Given the description of an element on the screen output the (x, y) to click on. 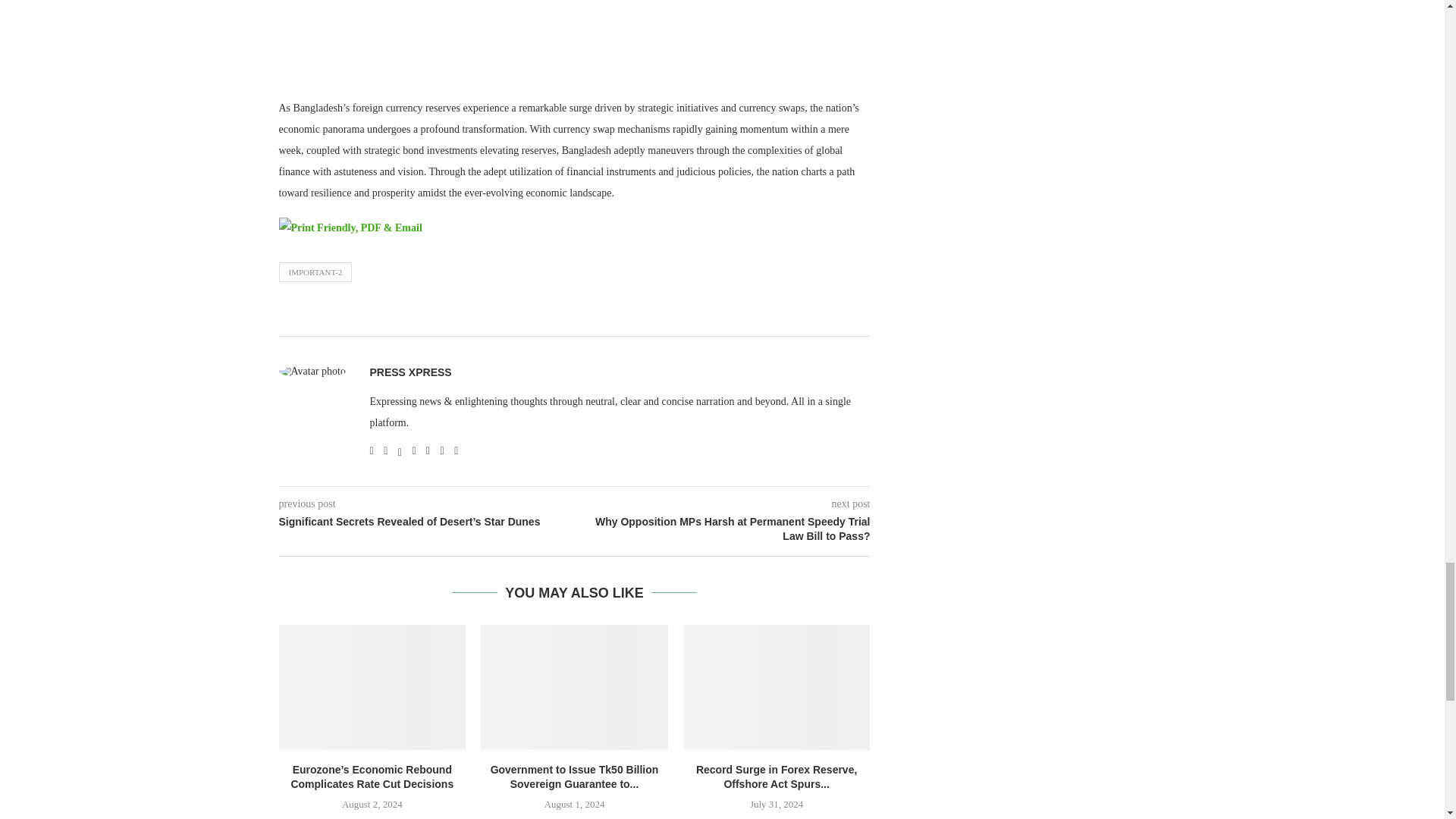
Author Press Xpress (410, 372)
Record Surge in Forex Reserve, Offshore Act Spurs Growth (776, 686)
